Given the description of an element on the screen output the (x, y) to click on. 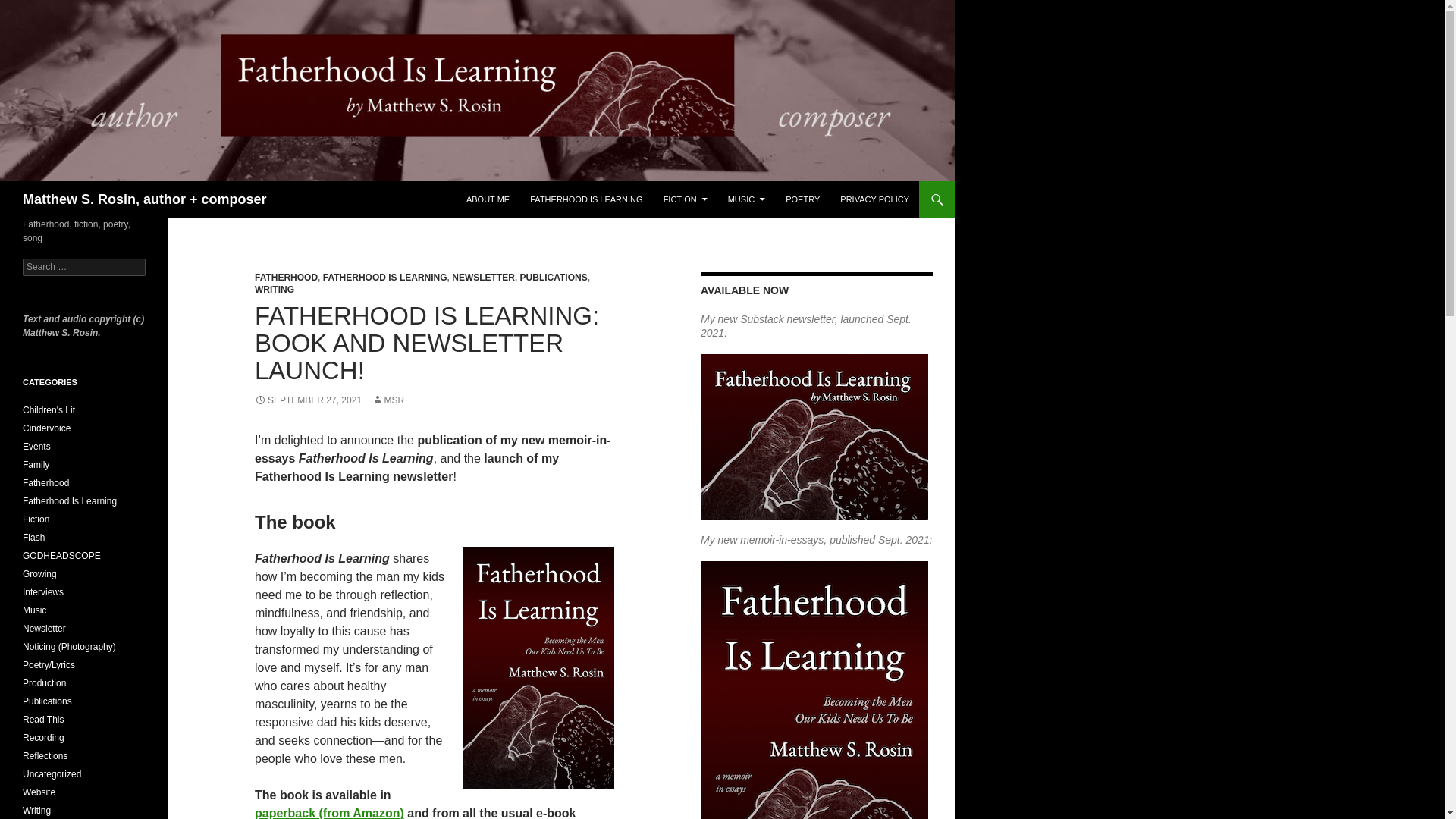
PUBLICATIONS (553, 276)
POETRY (802, 198)
SEPTEMBER 27, 2021 (307, 399)
FICTION (684, 198)
FATHERHOOD (285, 276)
PRIVACY POLICY (874, 198)
MUSIC (746, 198)
ABOUT ME (487, 198)
